Given the description of an element on the screen output the (x, y) to click on. 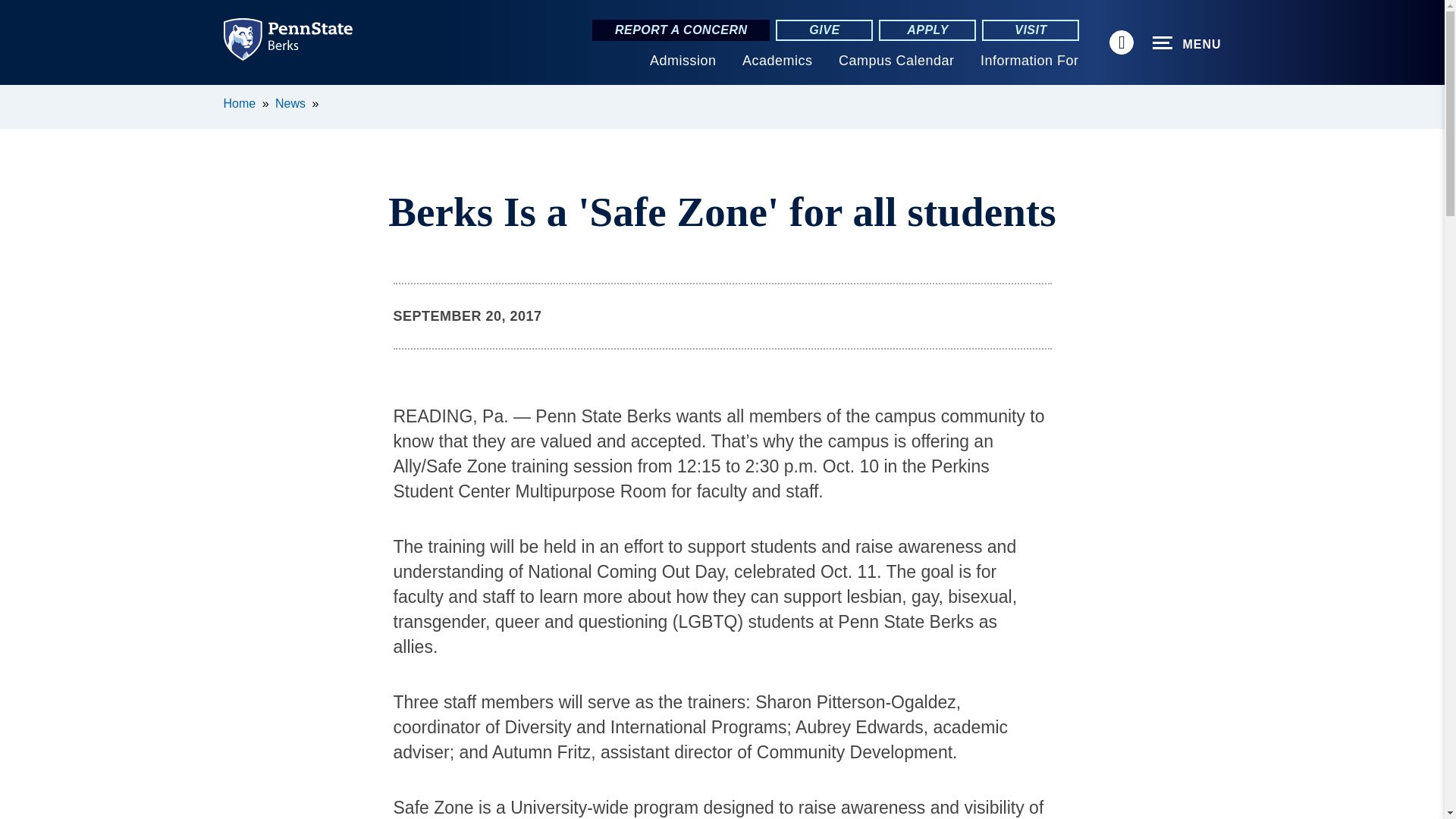
VISIT (1029, 29)
GIVE (824, 29)
Admission (682, 60)
SKIP TO MAIN CONTENT (19, 95)
Academics (777, 60)
REPORT A CONCERN (681, 29)
APPLY (927, 29)
MENU (1187, 43)
Campus Calendar (896, 60)
